Given the description of an element on the screen output the (x, y) to click on. 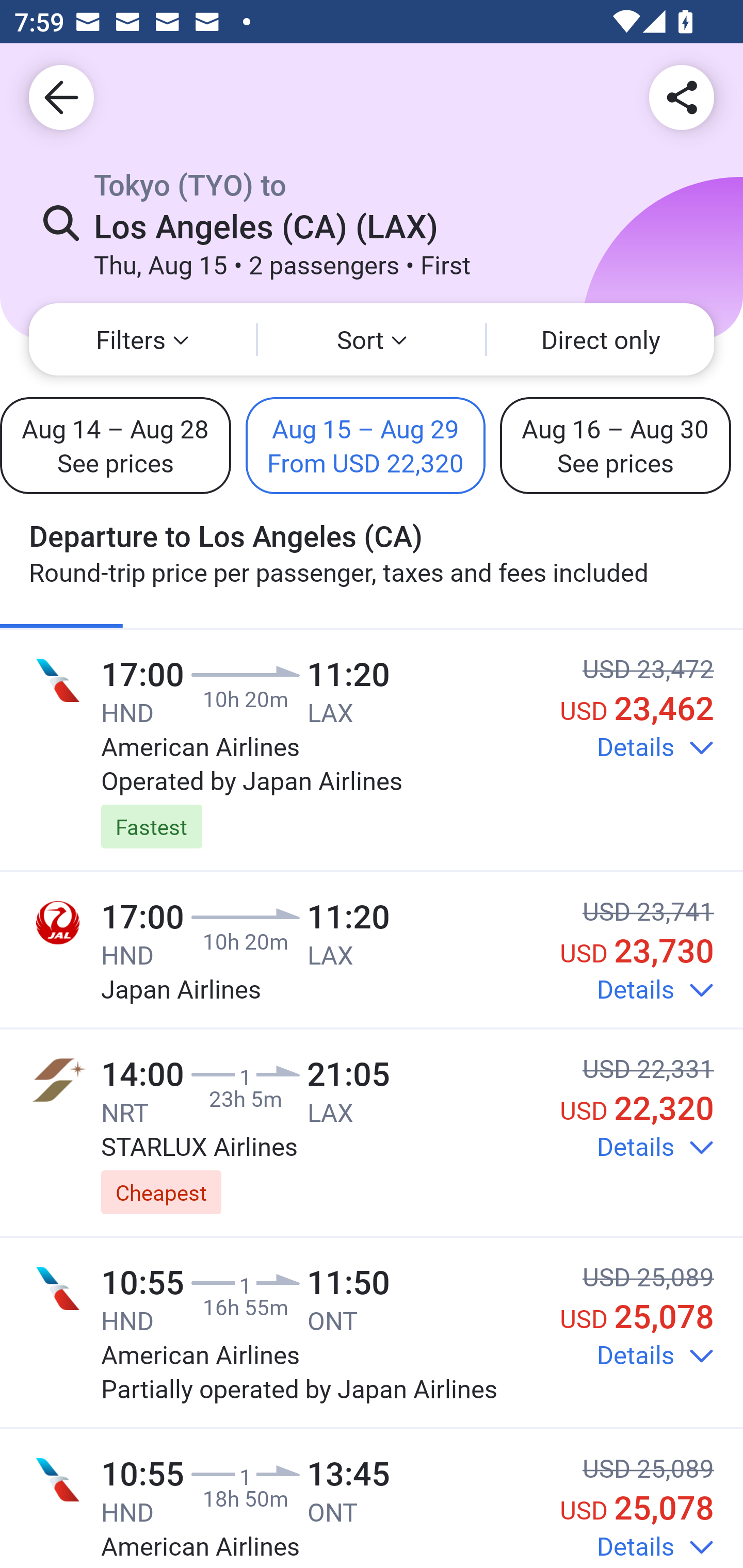
Filters (141, 339)
Sort (371, 339)
Direct only (600, 339)
Aug 14 – Aug 28 See prices (115, 444)
Aug 15 – Aug 29 From USD 22,320 (365, 444)
Aug 16 – Aug 30 See prices (615, 444)
